Given the description of an element on the screen output the (x, y) to click on. 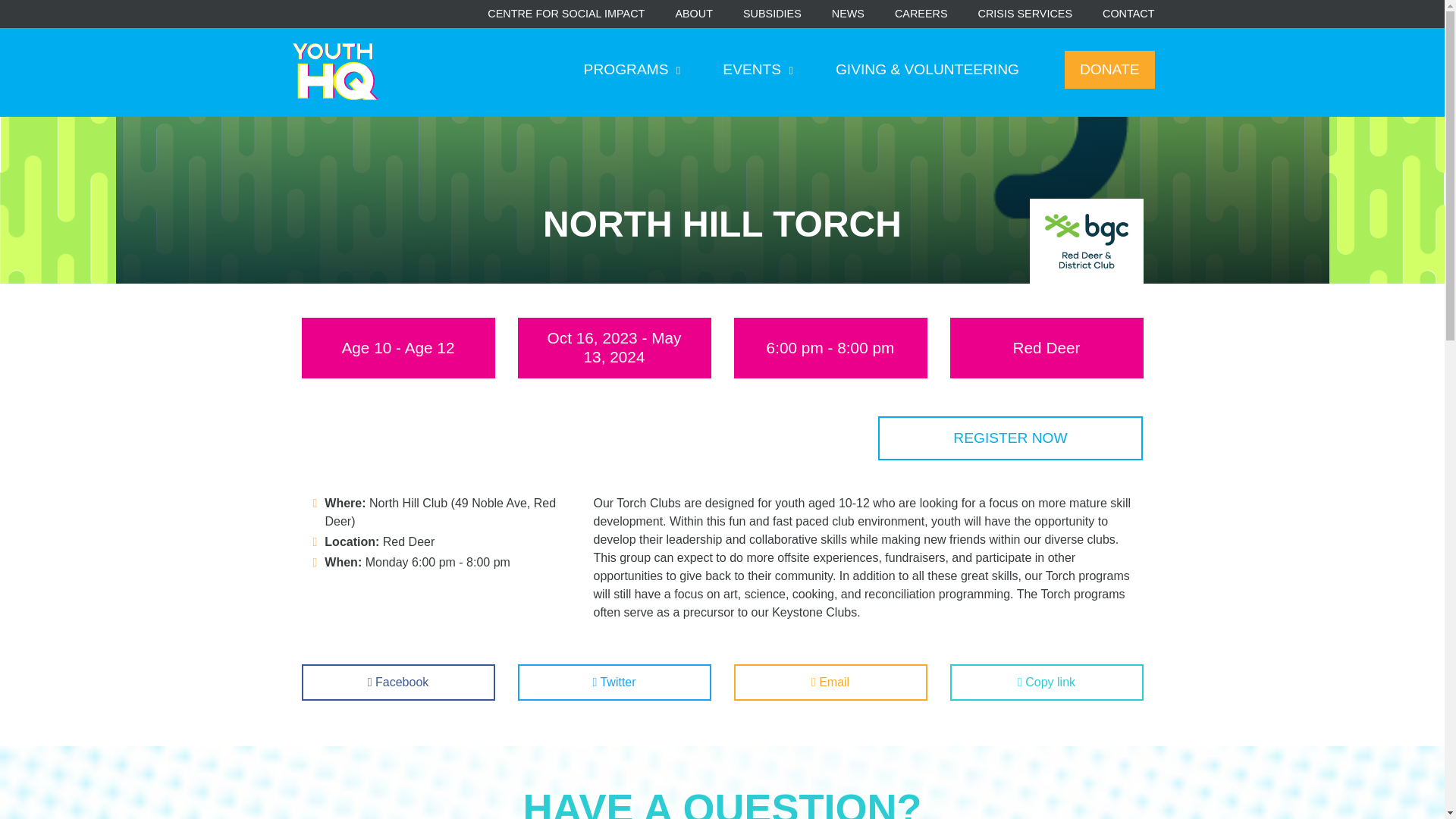
Facebook (398, 682)
EVENTS (757, 69)
Email (830, 682)
DONATE (1109, 69)
CAREERS (921, 13)
NEWS (847, 13)
SUBSIDIES (772, 13)
REGISTER NOW (1009, 438)
CONTACT (1128, 13)
PROGRAMS (632, 69)
CENTRE FOR SOCIAL IMPACT (566, 13)
Twitter (613, 682)
ABOUT (694, 13)
CRISIS SERVICES (1025, 13)
